Given the description of an element on the screen output the (x, y) to click on. 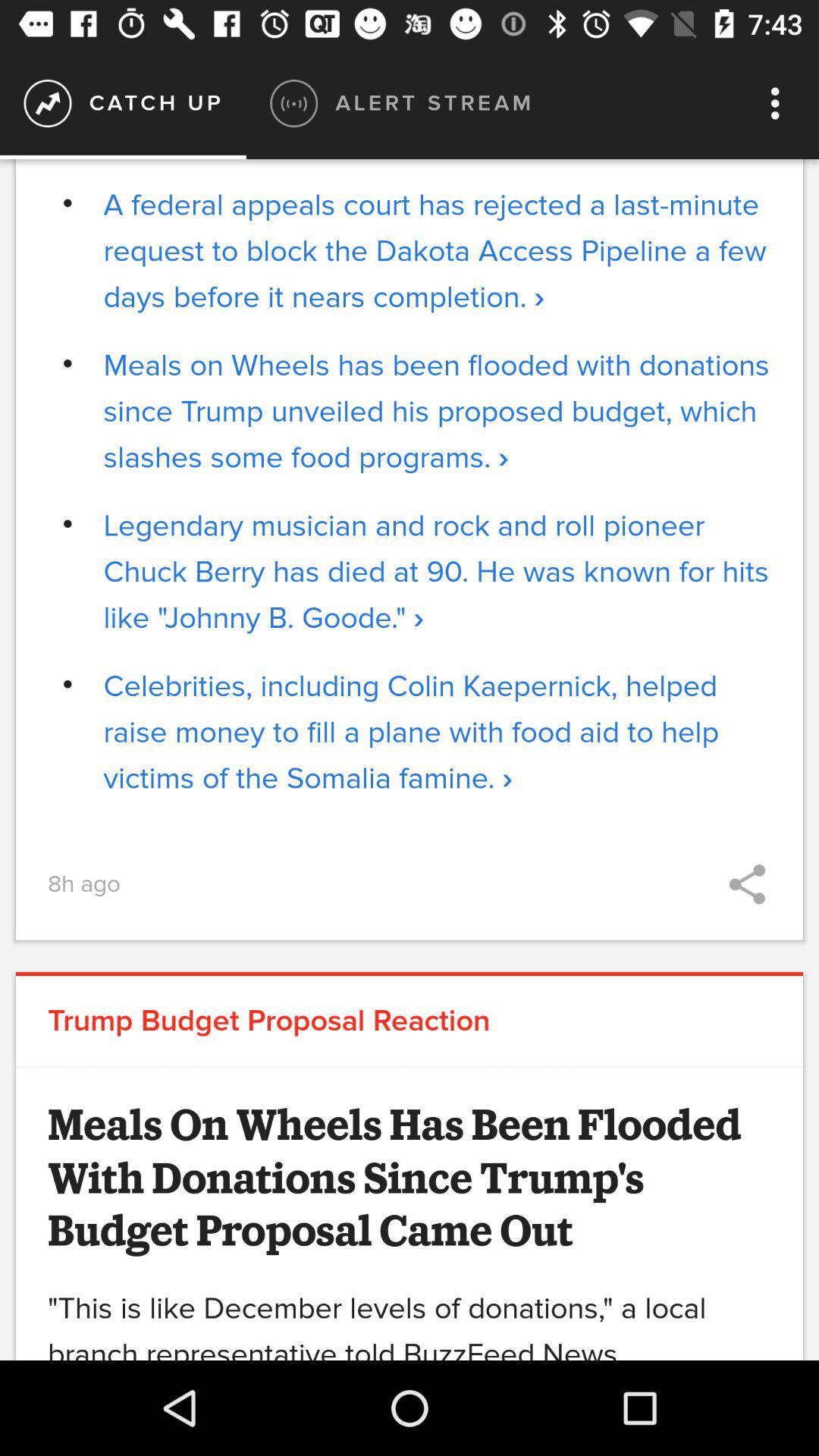
scroll until the celebrities including colin (437, 732)
